Given the description of an element on the screen output the (x, y) to click on. 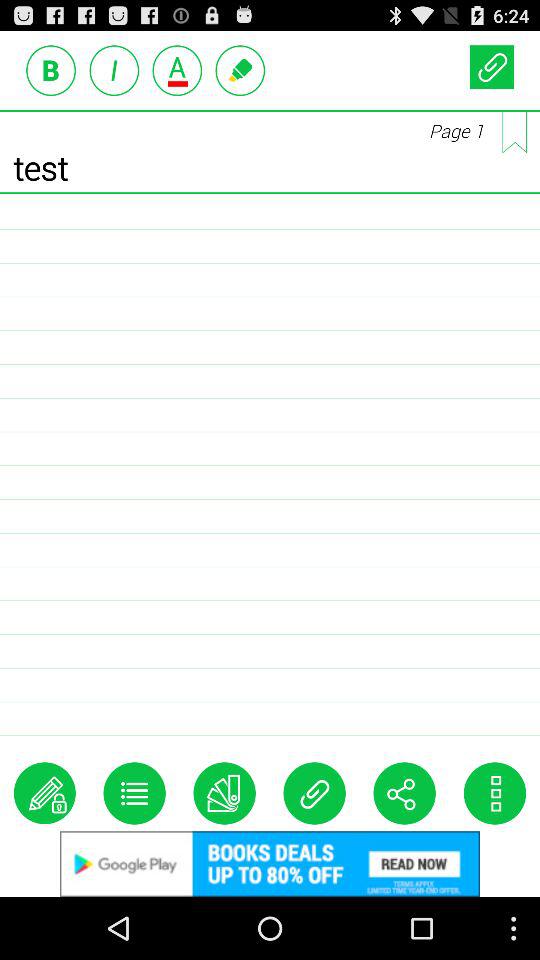
settings (134, 793)
